Given the description of an element on the screen output the (x, y) to click on. 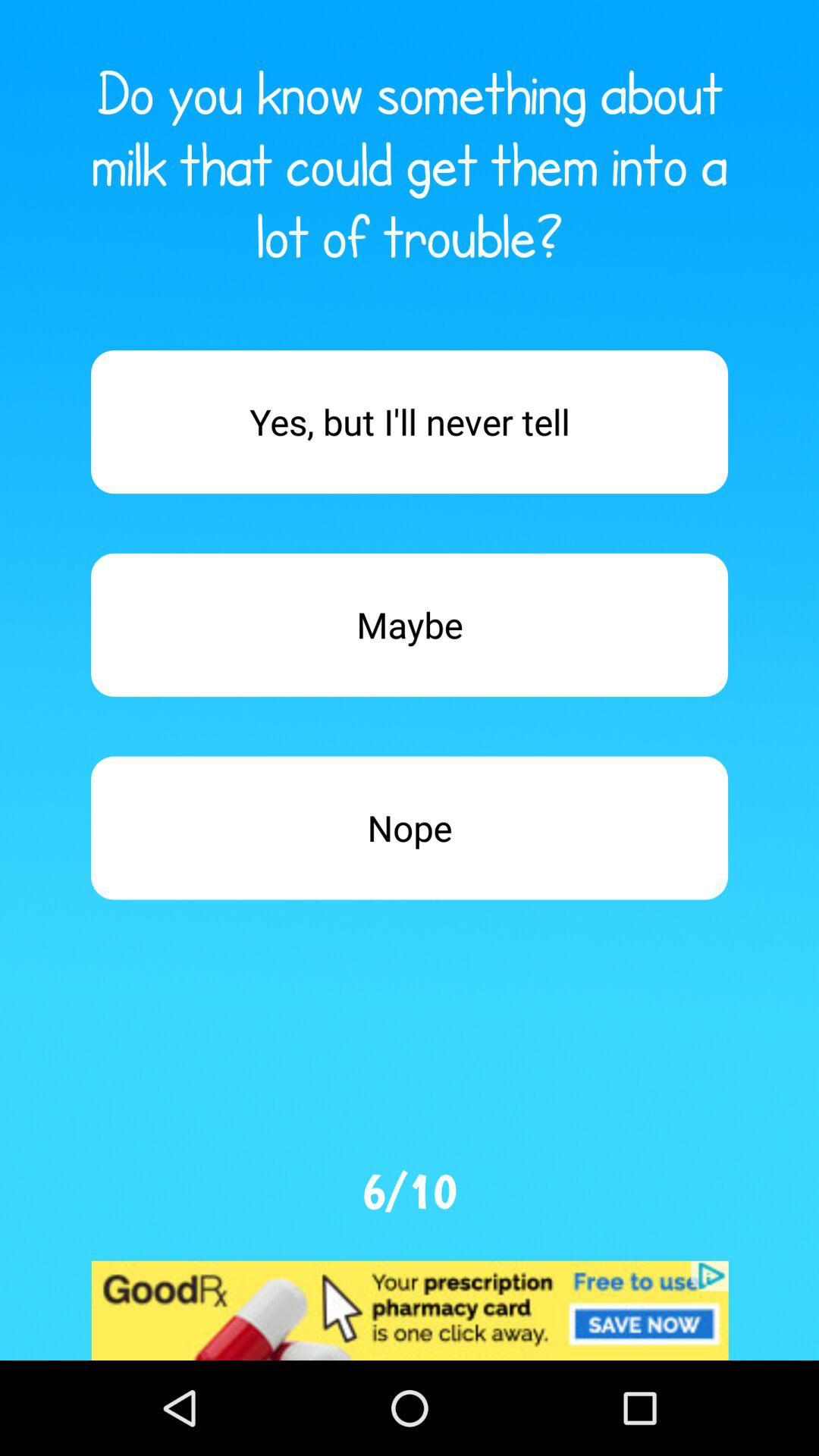
advertisement (409, 1310)
